Given the description of an element on the screen output the (x, y) to click on. 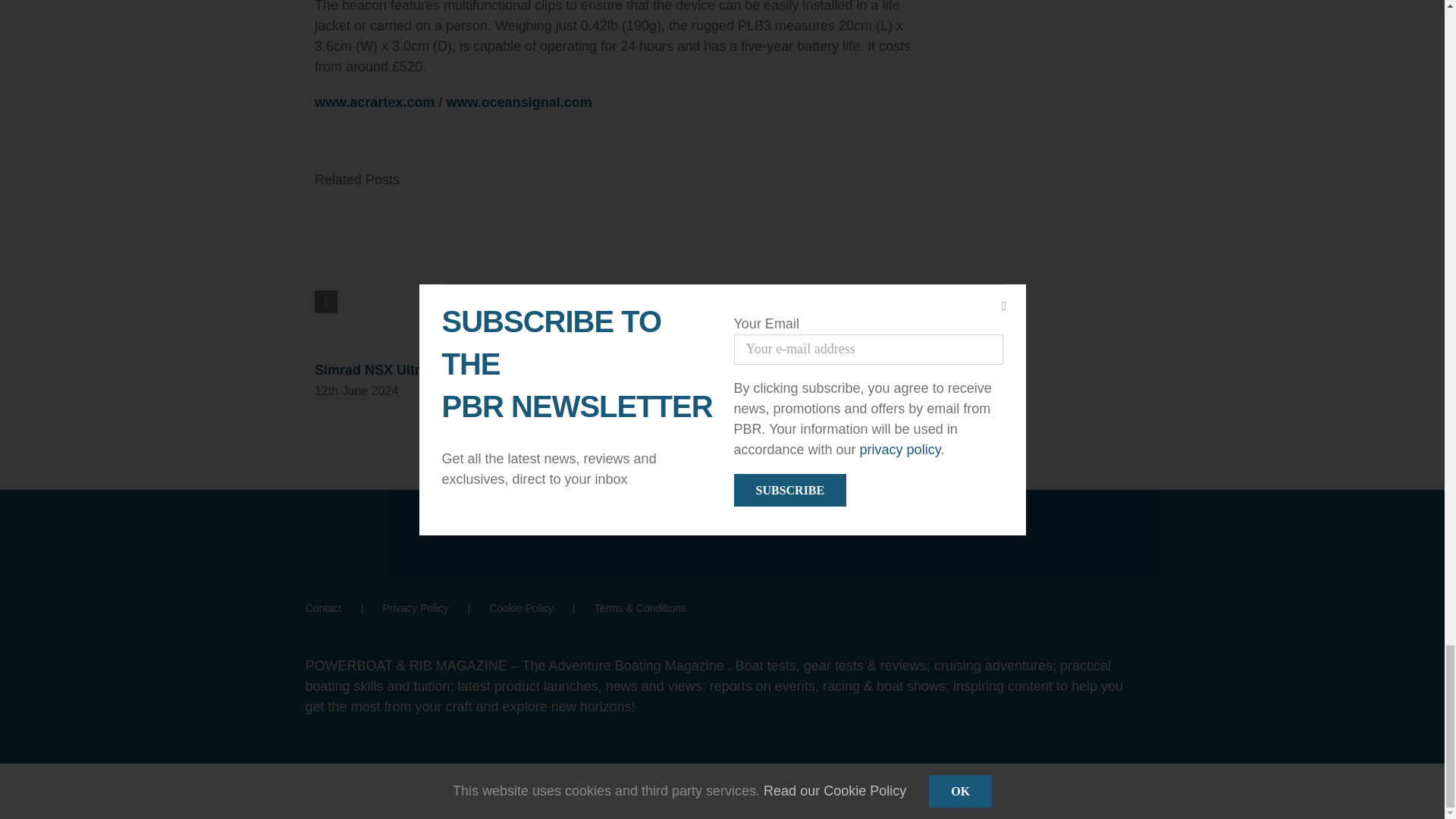
www.oceansignal.com (518, 102)
Caudwell V6 Diesel Outboard (624, 369)
Simrad NSX Ultrawide (386, 369)
www.acrartex.com (373, 102)
Simrad HALO 5000 (804, 369)
